Given the description of an element on the screen output the (x, y) to click on. 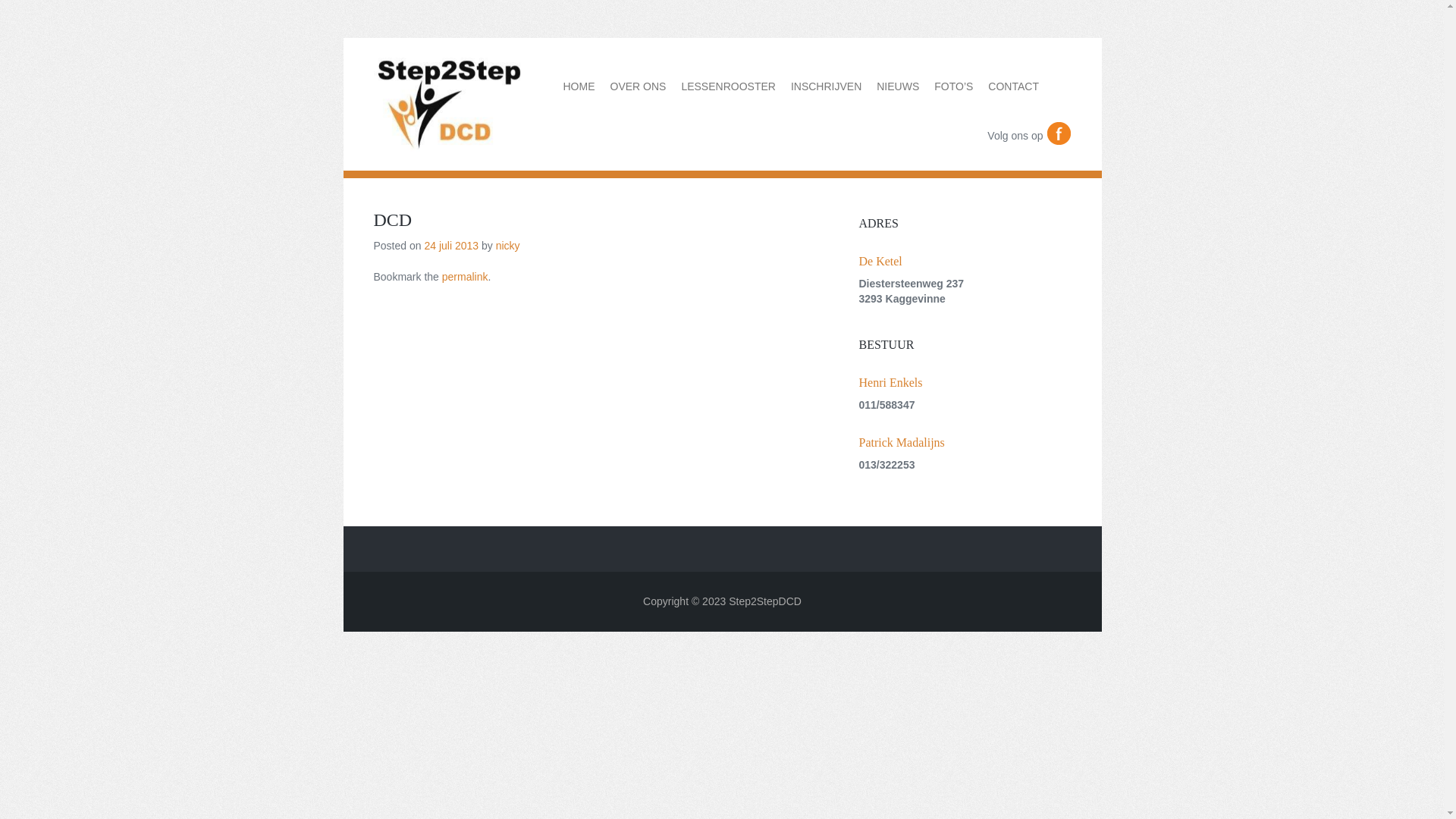
HOME Element type: text (578, 87)
Step2StepDCD Element type: text (764, 601)
nicky Element type: text (507, 245)
INSCHRIJVEN Element type: text (826, 87)
OVER ONS Element type: text (637, 87)
permalink Element type: text (465, 276)
24 juli 2013 Element type: text (450, 245)
Step2StepDCD Element type: hover (448, 147)
CONTACT Element type: text (1013, 87)
NIEUWS Element type: text (897, 87)
LESSENROOSTER Element type: text (727, 87)
